Given the description of an element on the screen output the (x, y) to click on. 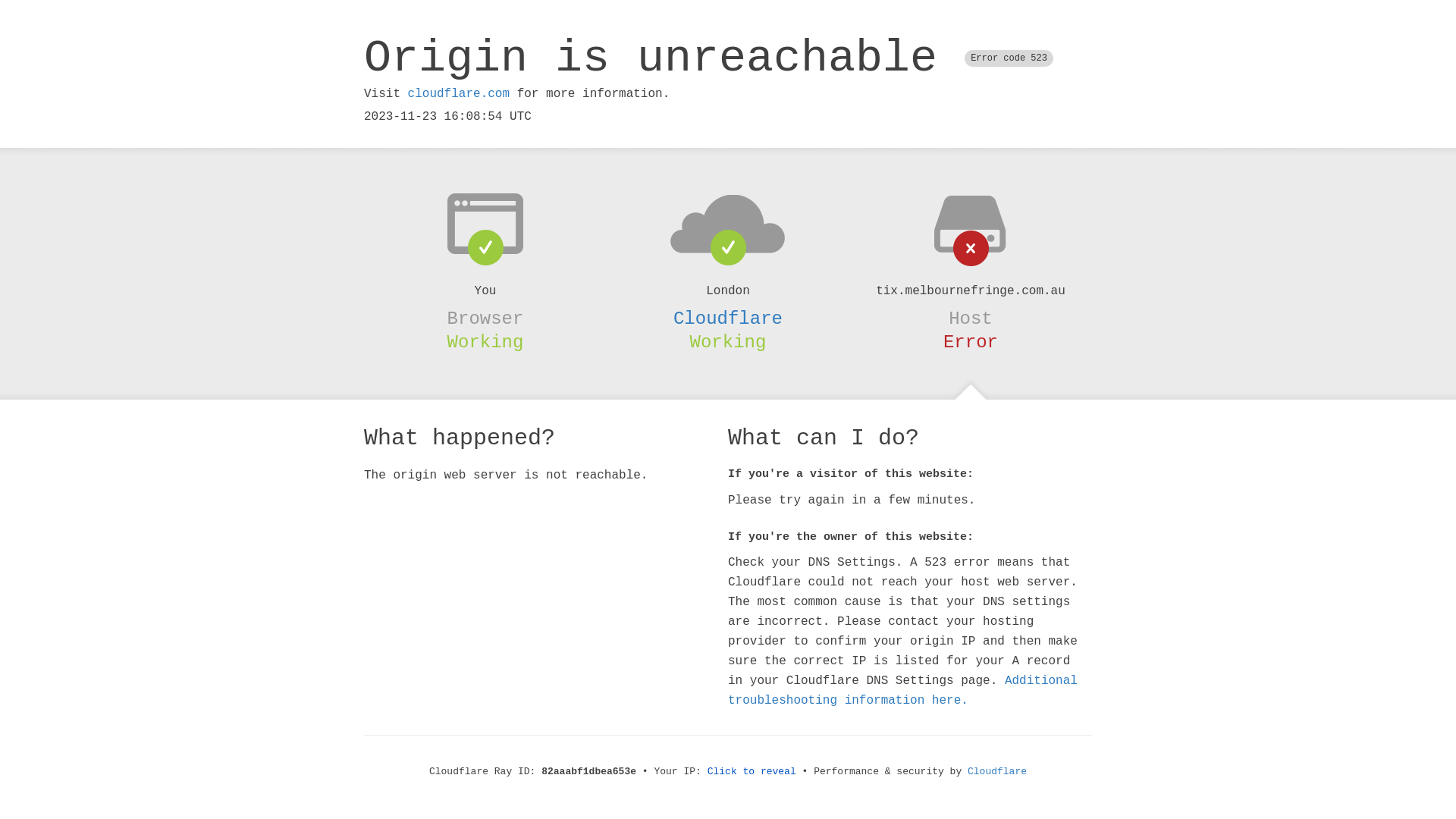
cloudflare.com Element type: text (458, 93)
Additional troubleshooting information here. Element type: text (902, 690)
Click to reveal Element type: text (751, 771)
Cloudflare Element type: text (727, 318)
Cloudflare Element type: text (996, 771)
